Given the description of an element on the screen output the (x, y) to click on. 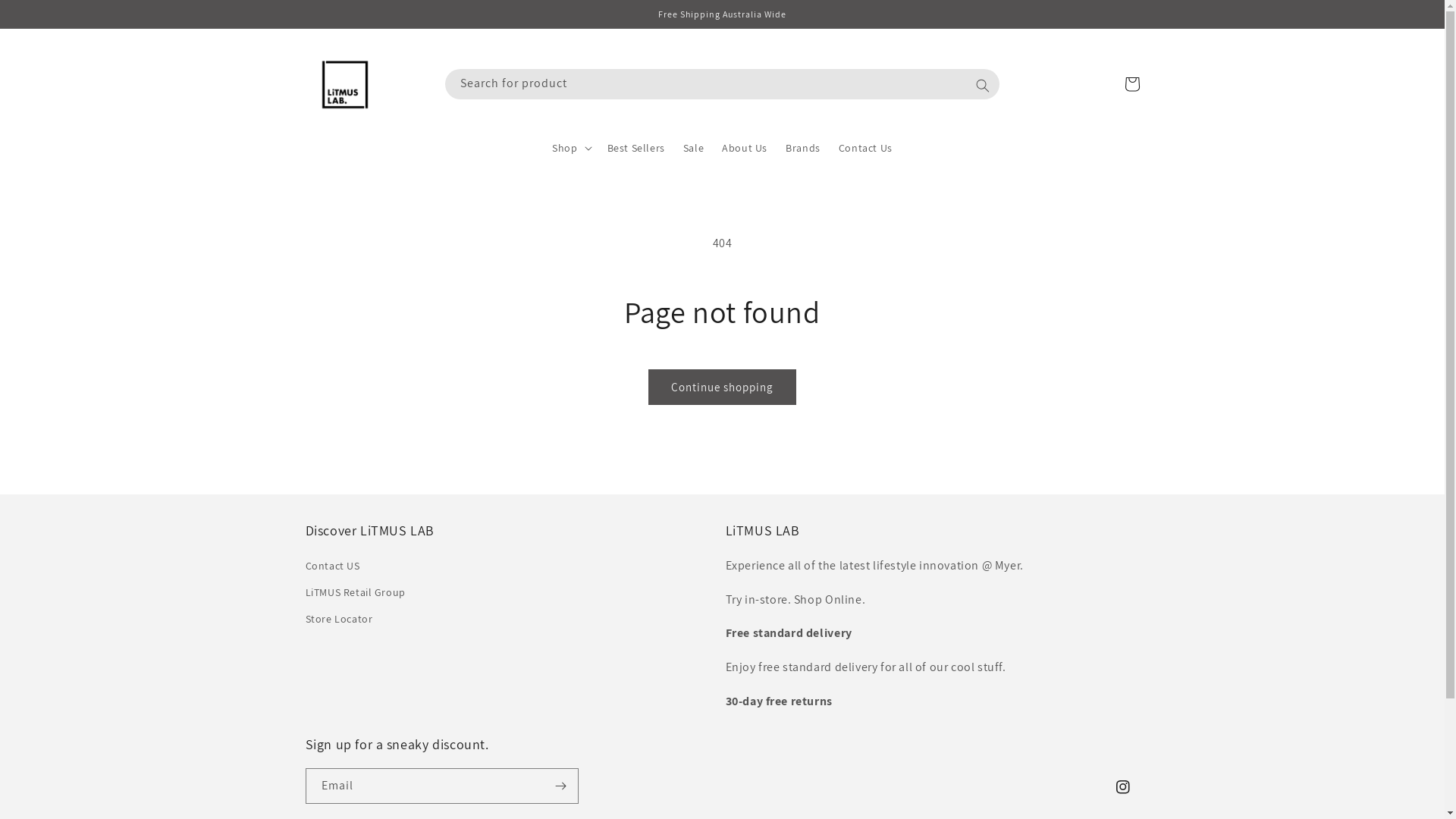
Instagram Element type: text (1122, 786)
Contact Us Element type: text (865, 147)
About Us Element type: text (744, 147)
Continue shopping Element type: text (722, 386)
Best Sellers Element type: text (636, 147)
Sale Element type: text (693, 147)
LiTMUS Retail Group Element type: text (354, 592)
Brands Element type: text (802, 147)
Cart Element type: text (1131, 83)
Store Locator Element type: text (338, 618)
Contact US Element type: text (331, 567)
